Given the description of an element on the screen output the (x, y) to click on. 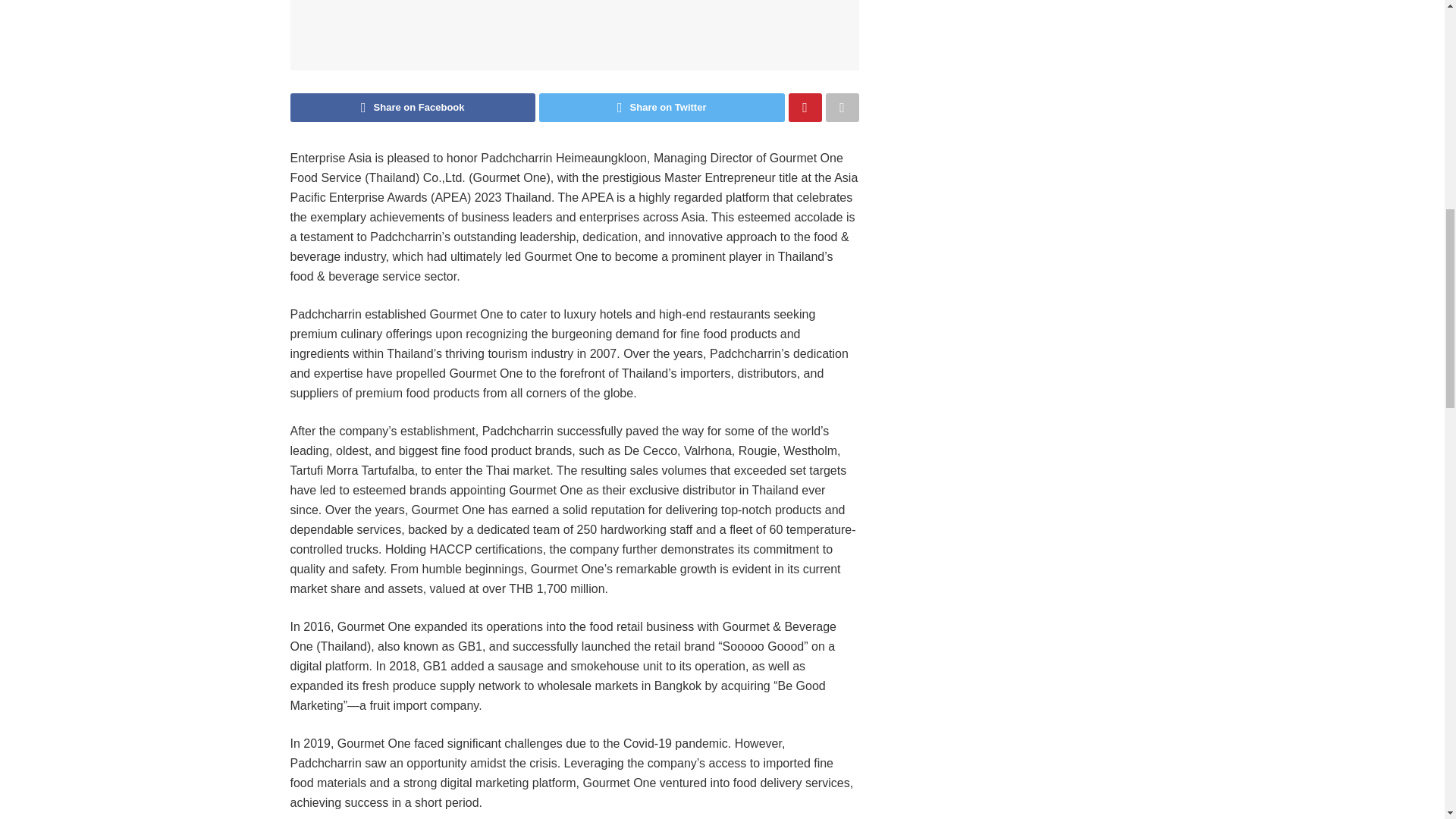
Share on Facebook (412, 107)
